Given the description of an element on the screen output the (x, y) to click on. 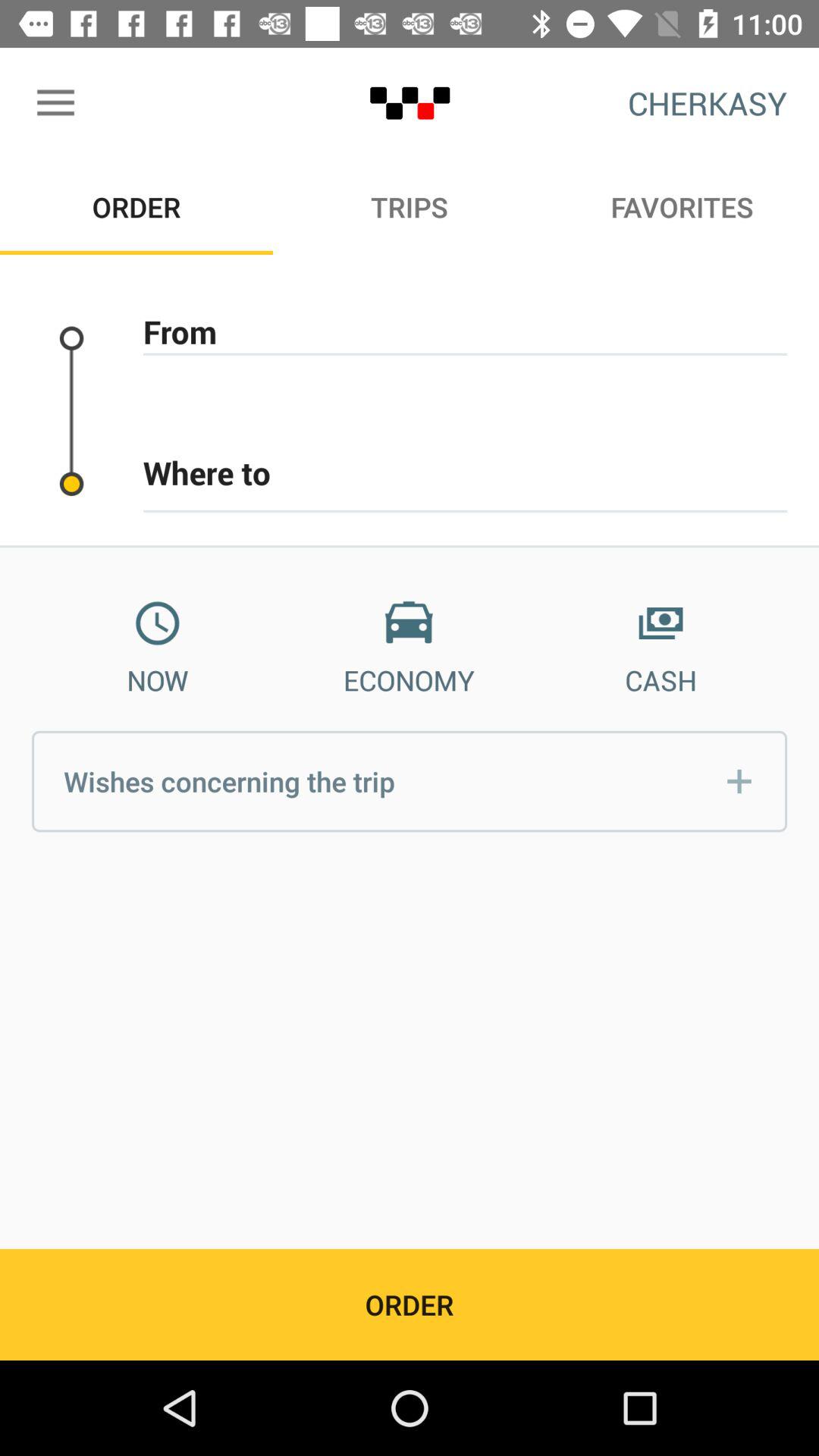
jump until the cherkasy icon (707, 102)
